Given the description of an element on the screen output the (x, y) to click on. 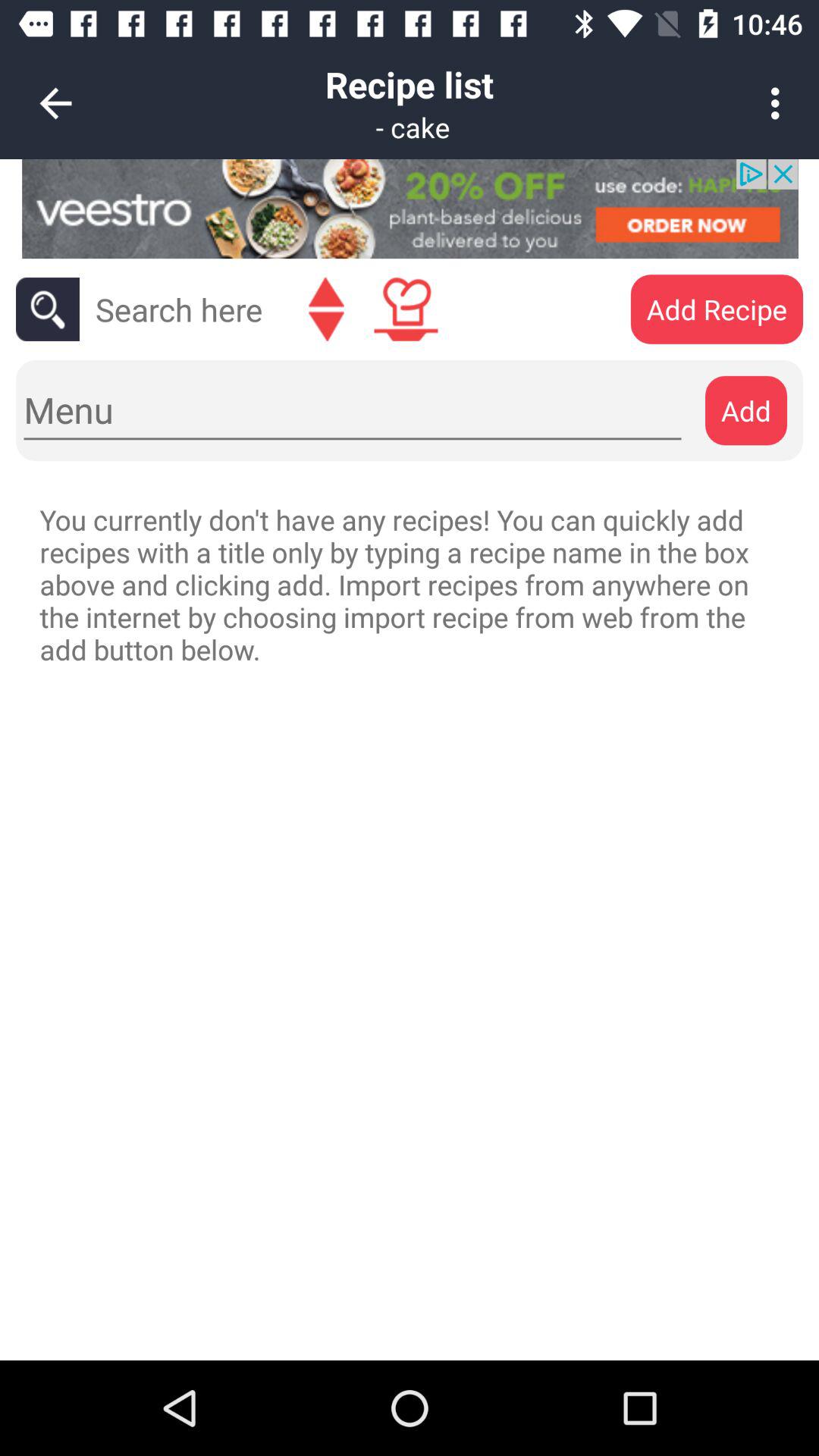
advertisement (409, 208)
